Given the description of an element on the screen output the (x, y) to click on. 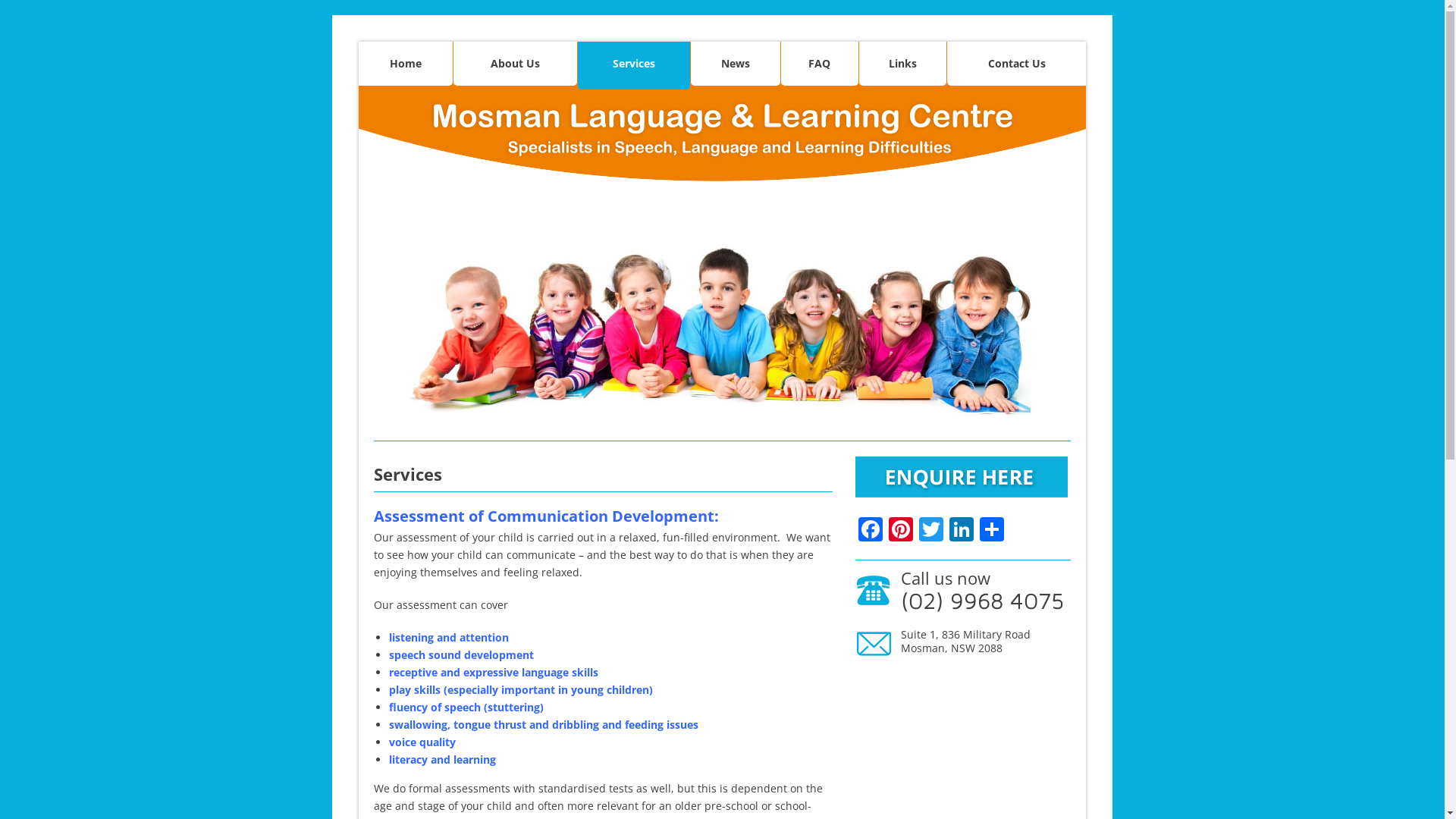
News Element type: text (734, 63)
Home Element type: text (405, 63)
Facebook Element type: text (870, 530)
Mosman Language & Learning Centre Element type: text (722, 137)
Services Element type: text (633, 65)
Links Element type: text (903, 63)
Contact Us Element type: text (1016, 63)
Share Element type: text (991, 530)
Pinterest Element type: text (900, 530)
About Us Element type: text (515, 63)
FAQ Element type: text (819, 63)
LinkedIn Element type: text (961, 530)
Twitter Element type: text (931, 530)
